Given the description of an element on the screen output the (x, y) to click on. 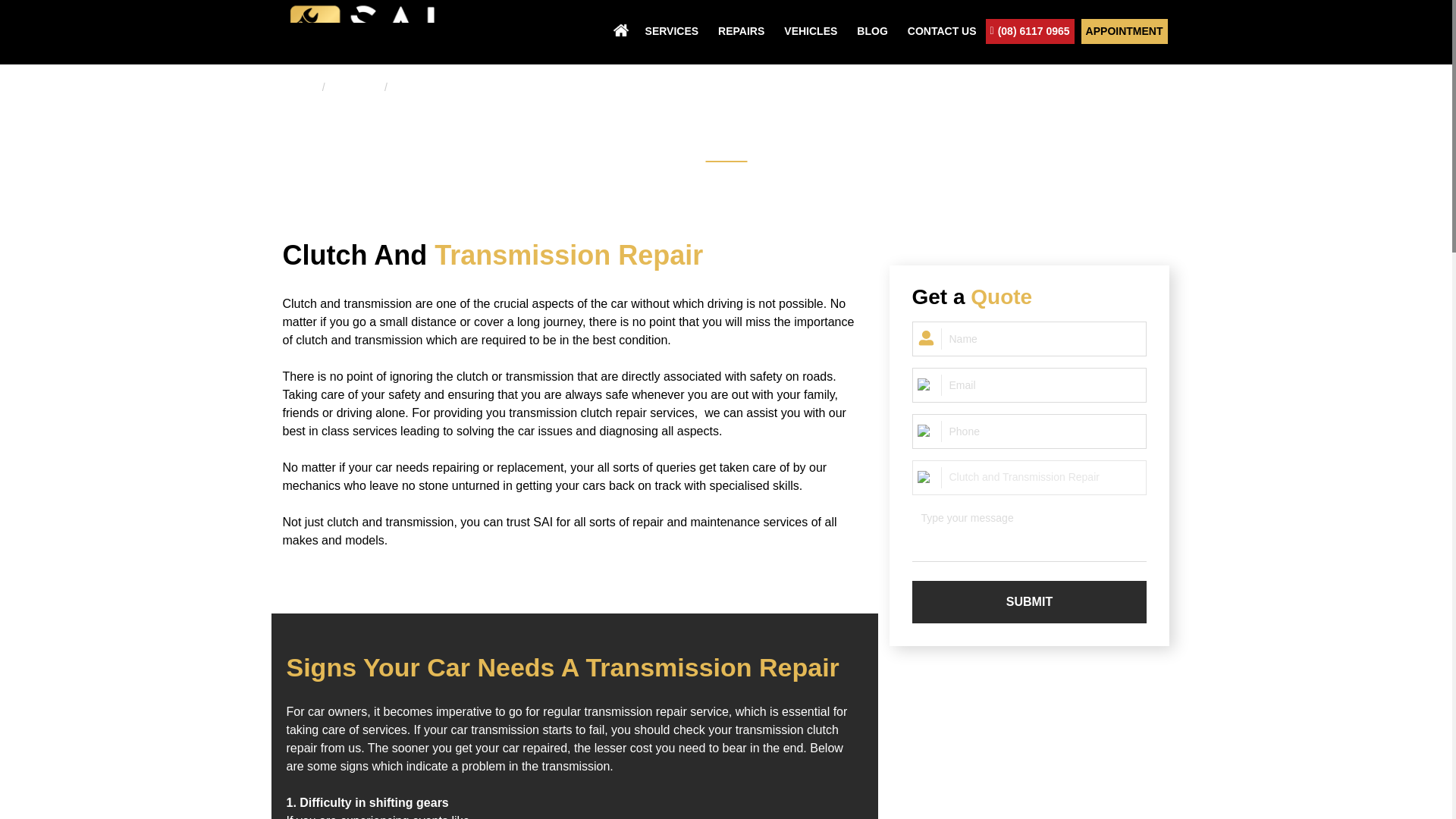
Clutch and Transmission Repair (481, 87)
VEHICLES (810, 30)
SERVICES (671, 30)
REPAIRS (740, 30)
Repairs (354, 87)
Home (296, 87)
